Given the description of an element on the screen output the (x, y) to click on. 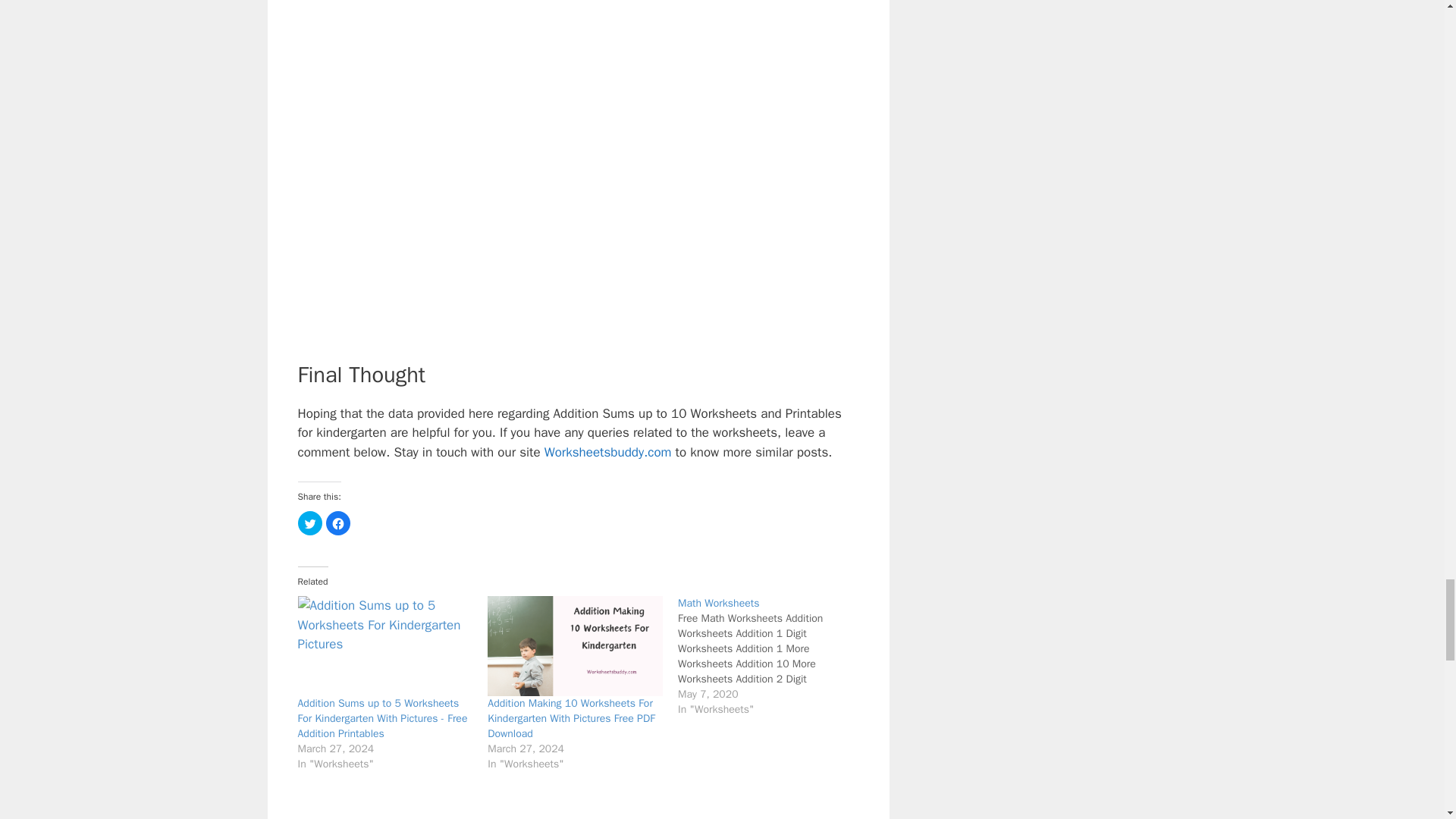
Math Worksheets (718, 603)
Math Worksheets (718, 603)
Click to share on Twitter (309, 523)
Math Worksheets (772, 656)
Click to share on Facebook (338, 523)
Worksheetsbuddy.com (607, 452)
